Given the description of an element on the screen output the (x, y) to click on. 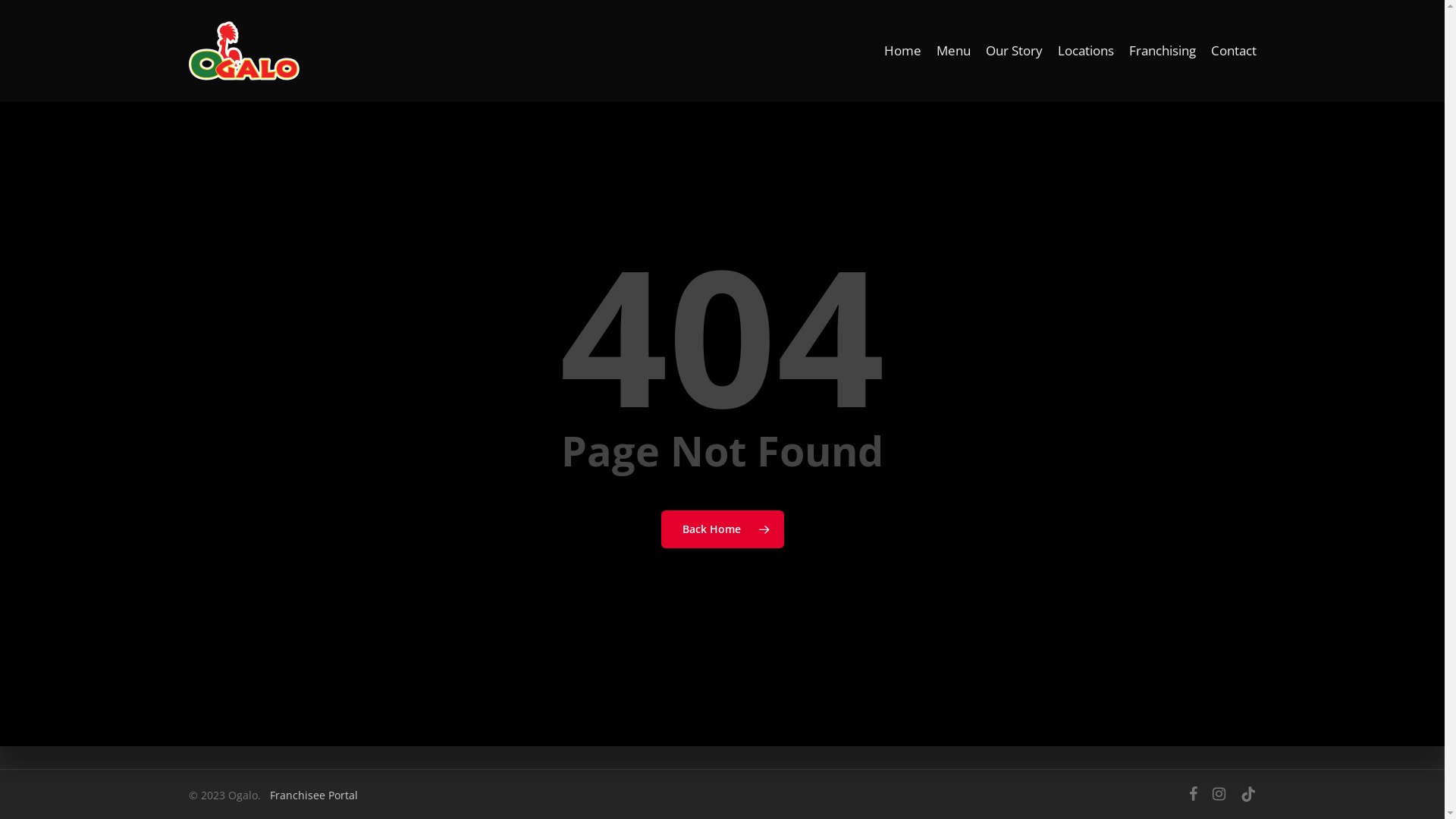
Back Home Element type: text (722, 529)
Franchising Element type: text (1161, 50)
Contact Element type: text (1232, 50)
Menu Element type: text (952, 50)
tiktok Element type: text (1247, 793)
Franchisee Portal Element type: text (313, 794)
Home Element type: text (902, 50)
Locations Element type: text (1085, 50)
instagram Element type: text (1218, 793)
Our Story Element type: text (1013, 50)
facebook Element type: text (1193, 793)
